Given the description of an element on the screen output the (x, y) to click on. 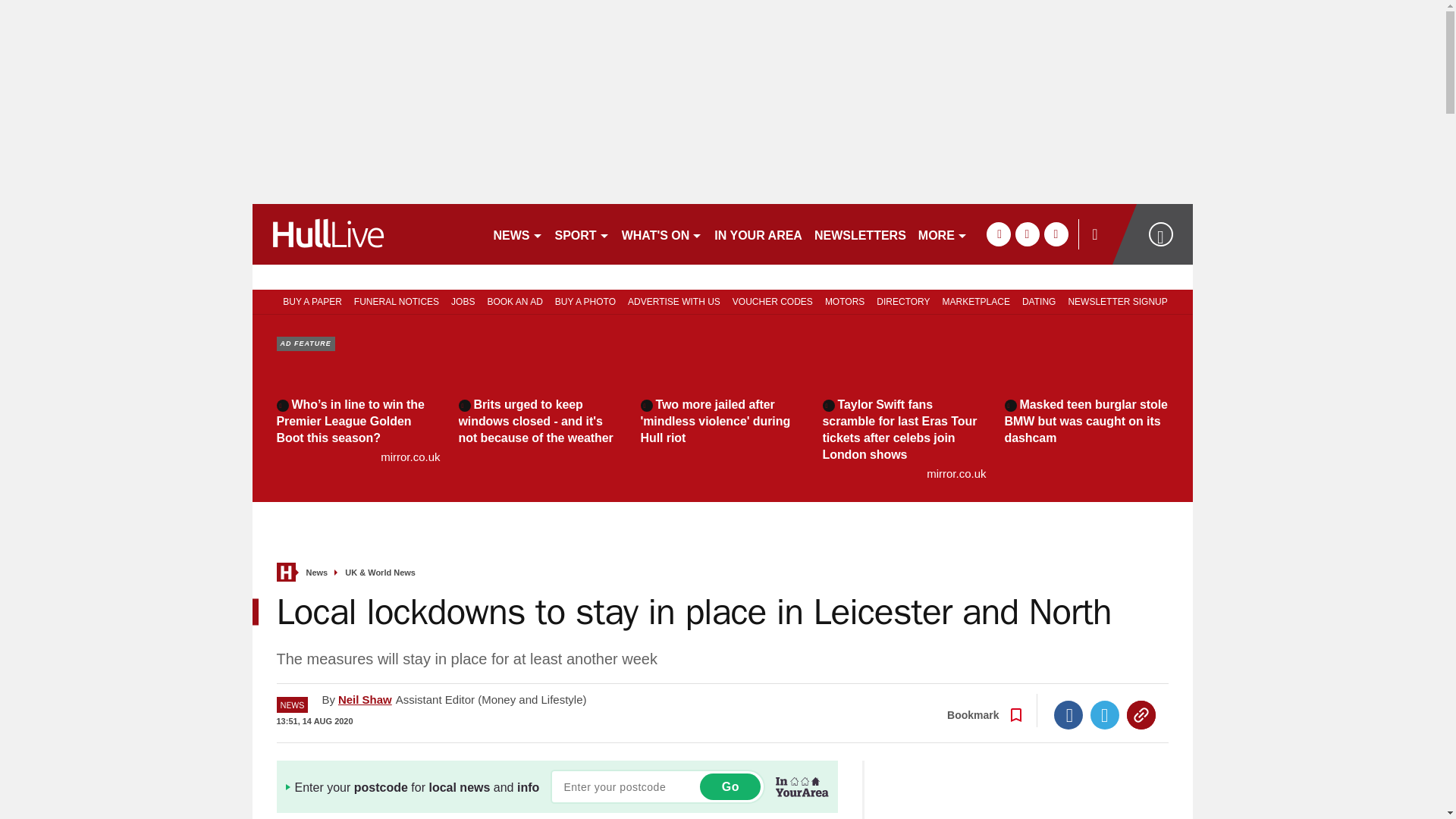
facebook (997, 233)
hulldailymail (365, 233)
MORE (943, 233)
Go (730, 786)
SPORT (581, 233)
IN YOUR AREA (757, 233)
Twitter (1104, 715)
NEWS (517, 233)
WHAT'S ON (662, 233)
NEWSLETTERS (860, 233)
